Given the description of an element on the screen output the (x, y) to click on. 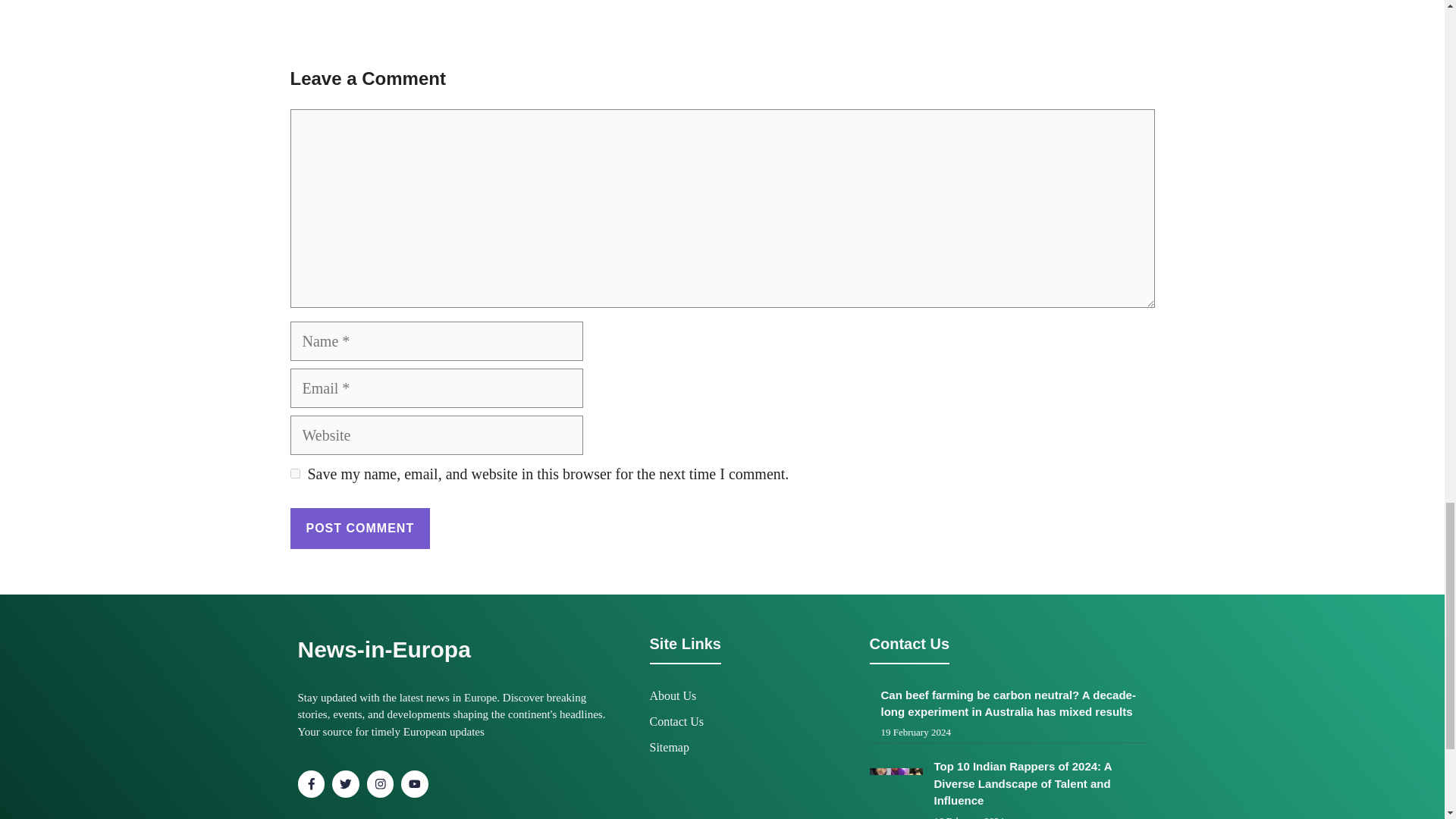
Post Comment (359, 527)
About Us (672, 695)
Post Comment (359, 527)
Sitemap (668, 747)
yes (294, 473)
Contact Us (676, 721)
